Given the description of an element on the screen output the (x, y) to click on. 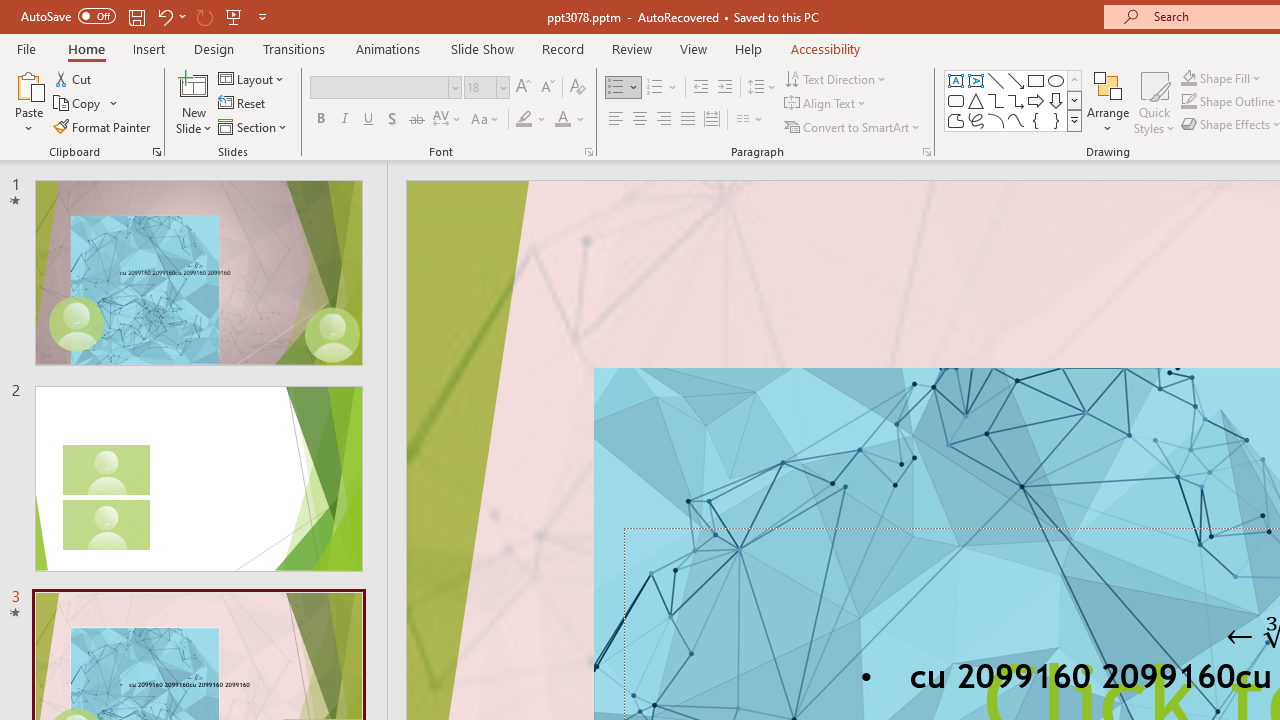
Shape Outline Green, Accent 1 (1188, 101)
